Given the description of an element on the screen output the (x, y) to click on. 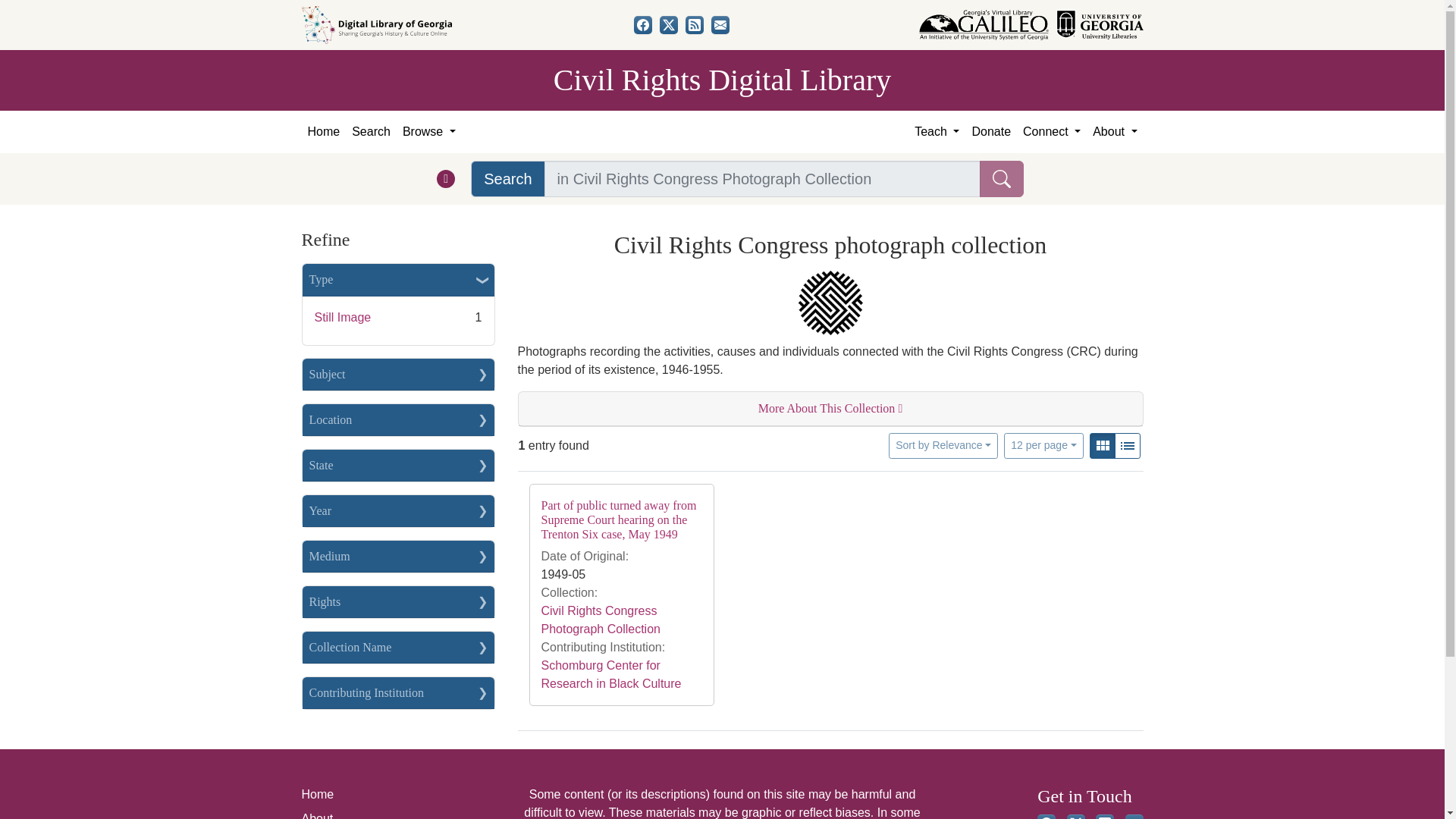
Blog (1104, 816)
Twitter (668, 24)
Connect (1051, 132)
List (1127, 445)
Skip to search (37, 9)
Browse (428, 132)
Home (323, 132)
Blog (694, 24)
Facebook (643, 24)
Facebook (1045, 816)
Gallery (1102, 445)
Skip to first result (34, 9)
Contact Us (1133, 816)
Civil Rights Digital Library (721, 80)
